Given the description of an element on the screen output the (x, y) to click on. 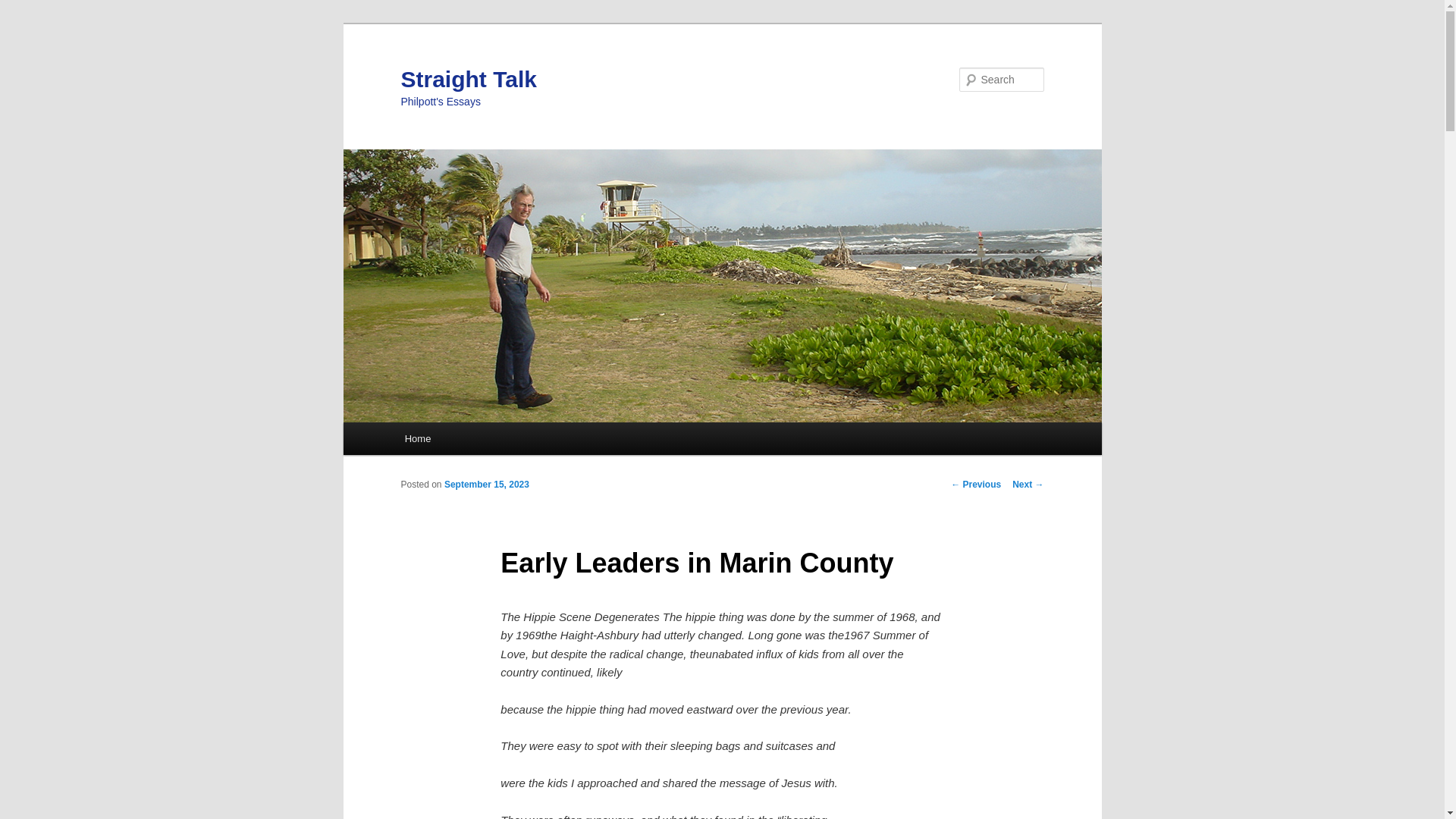
Skip to primary content (472, 441)
Home (417, 438)
Straight Talk (467, 78)
September 15, 2023 (486, 484)
Skip to primary content (472, 441)
Straight Talk (467, 78)
2:50 pm (486, 484)
Skip to secondary content (479, 441)
Search (24, 8)
Skip to secondary content (479, 441)
